Given the description of an element on the screen output the (x, y) to click on. 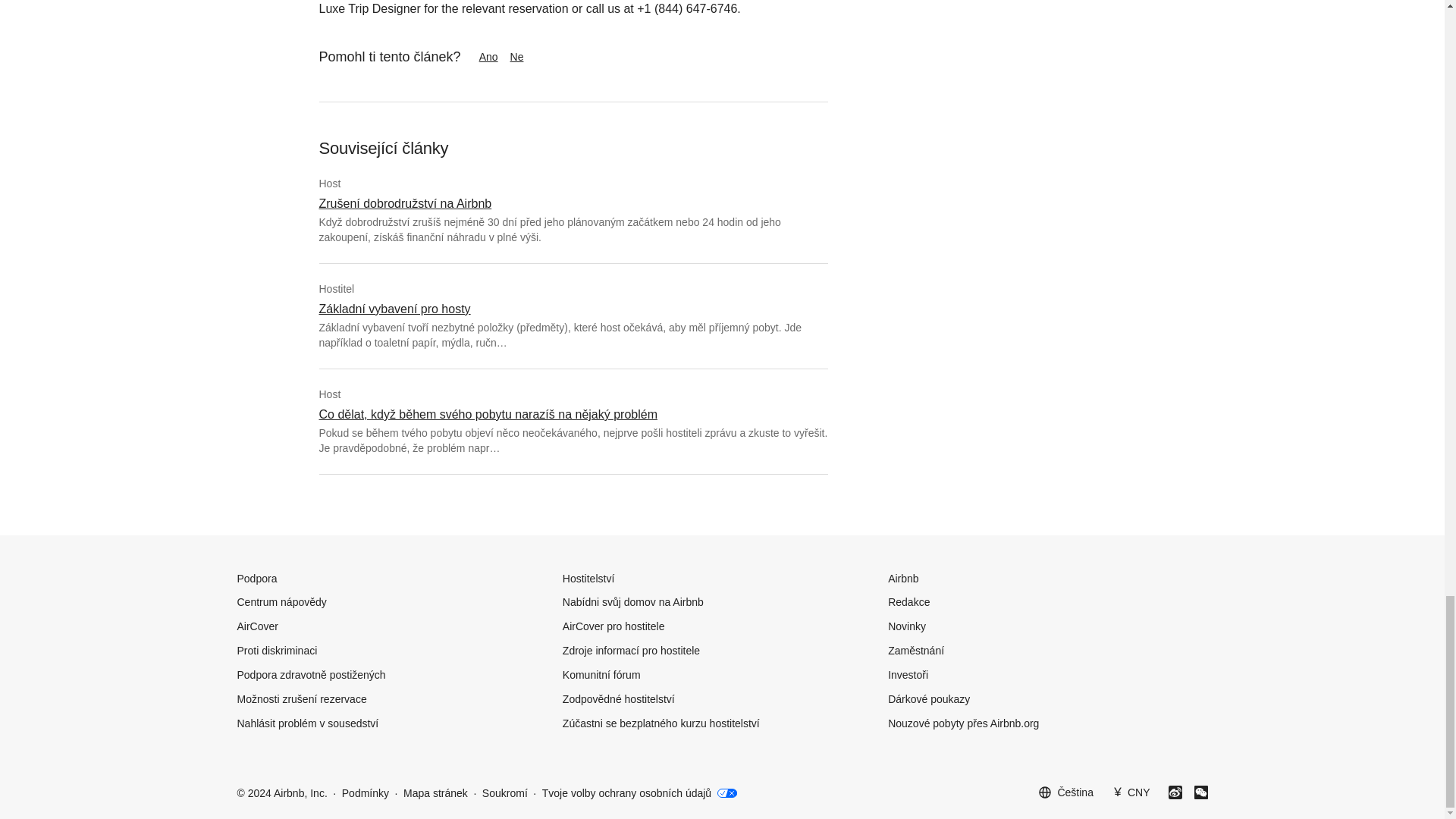
AirCover (256, 625)
Ne (532, 56)
Proti diskriminaci (276, 650)
AirCover pro hostitele (613, 625)
Ano (488, 56)
